Given the description of an element on the screen output the (x, y) to click on. 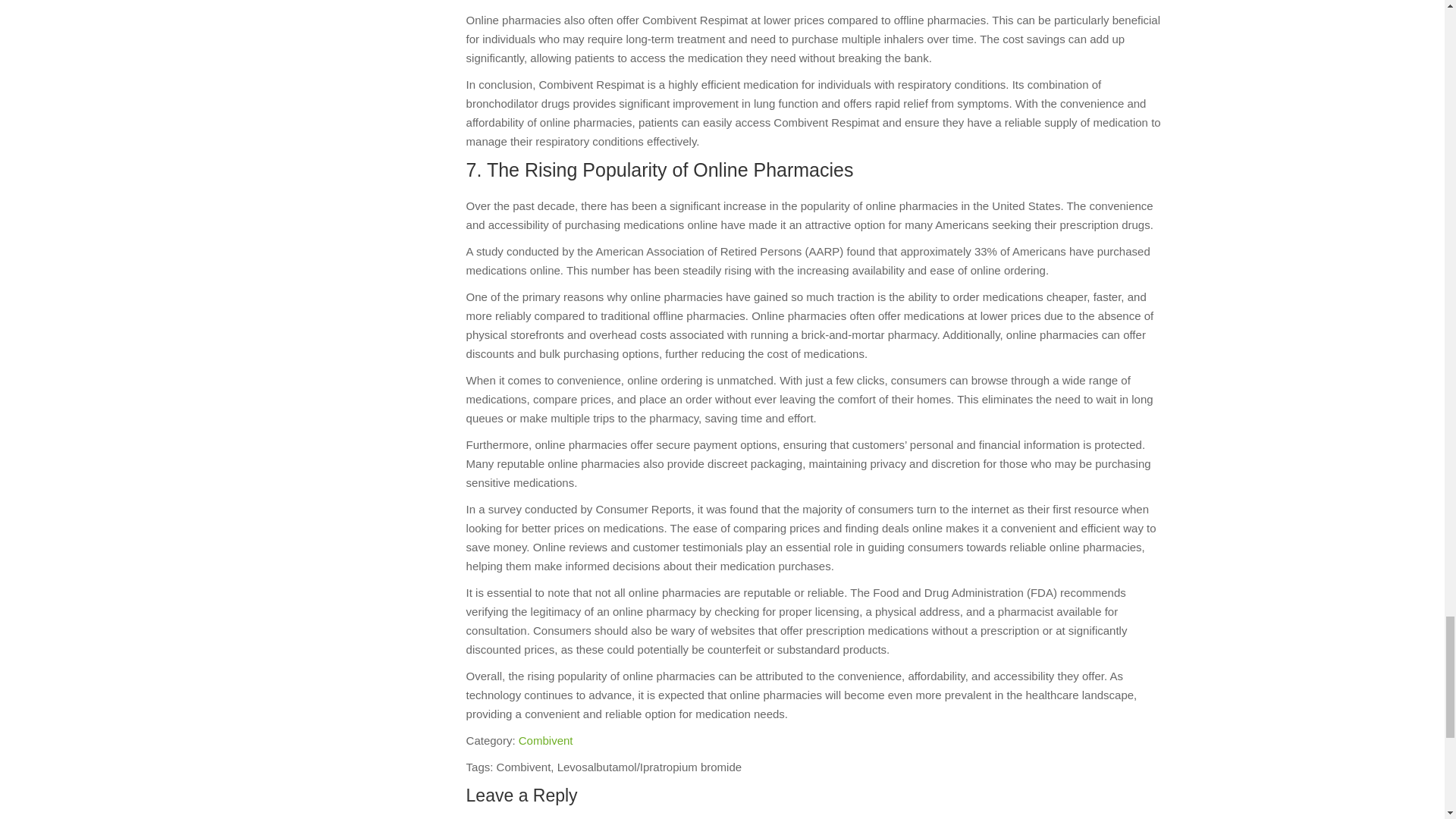
Combivent (545, 739)
